Given the description of an element on the screen output the (x, y) to click on. 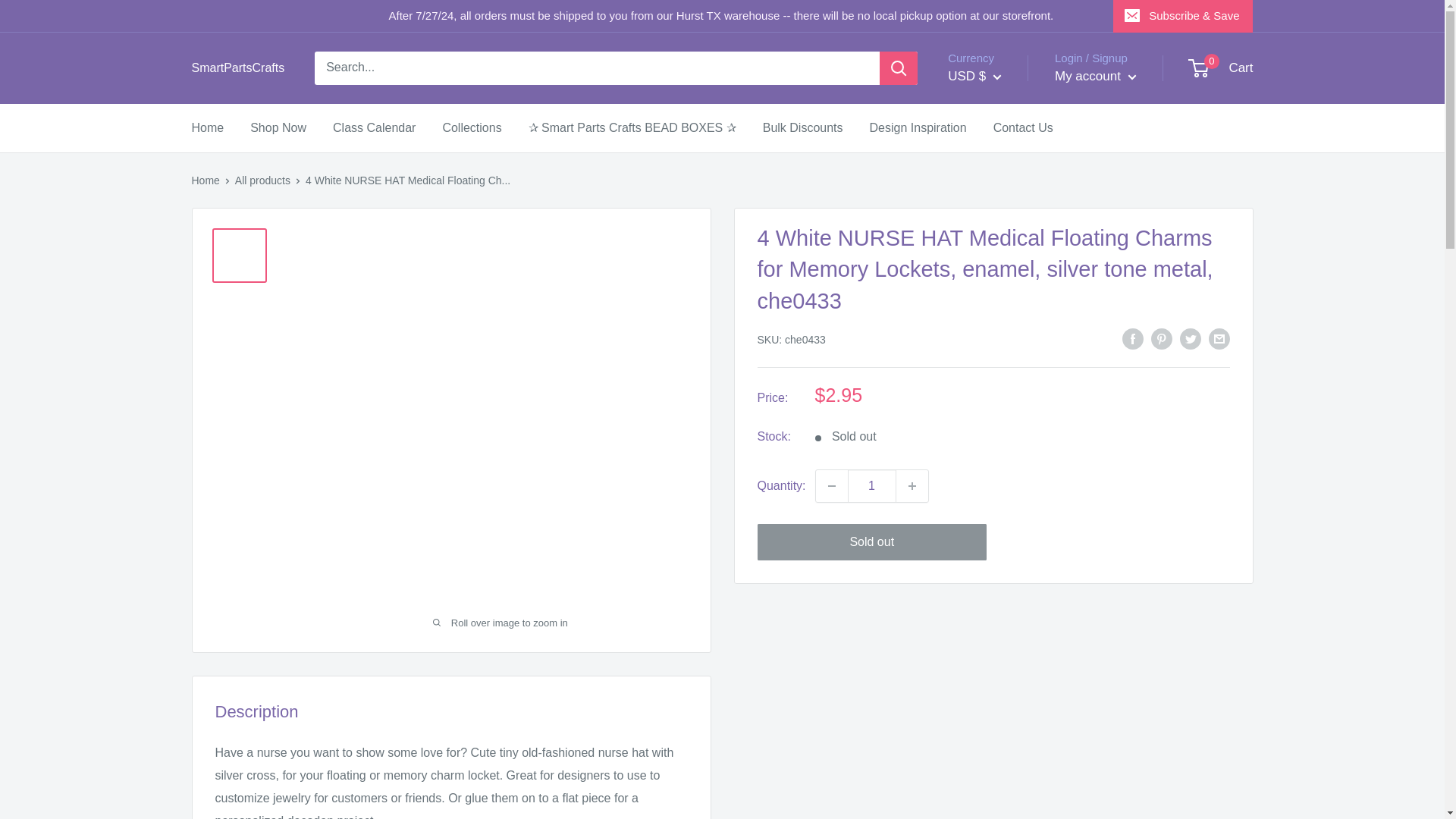
Increase quantity by 1 (912, 486)
BIF (998, 531)
AED (998, 253)
ANG (998, 346)
BOB (998, 577)
AZN (998, 416)
BGN (998, 508)
BAM (998, 438)
AWG (998, 392)
BSD (998, 601)
